Given the description of an element on the screen output the (x, y) to click on. 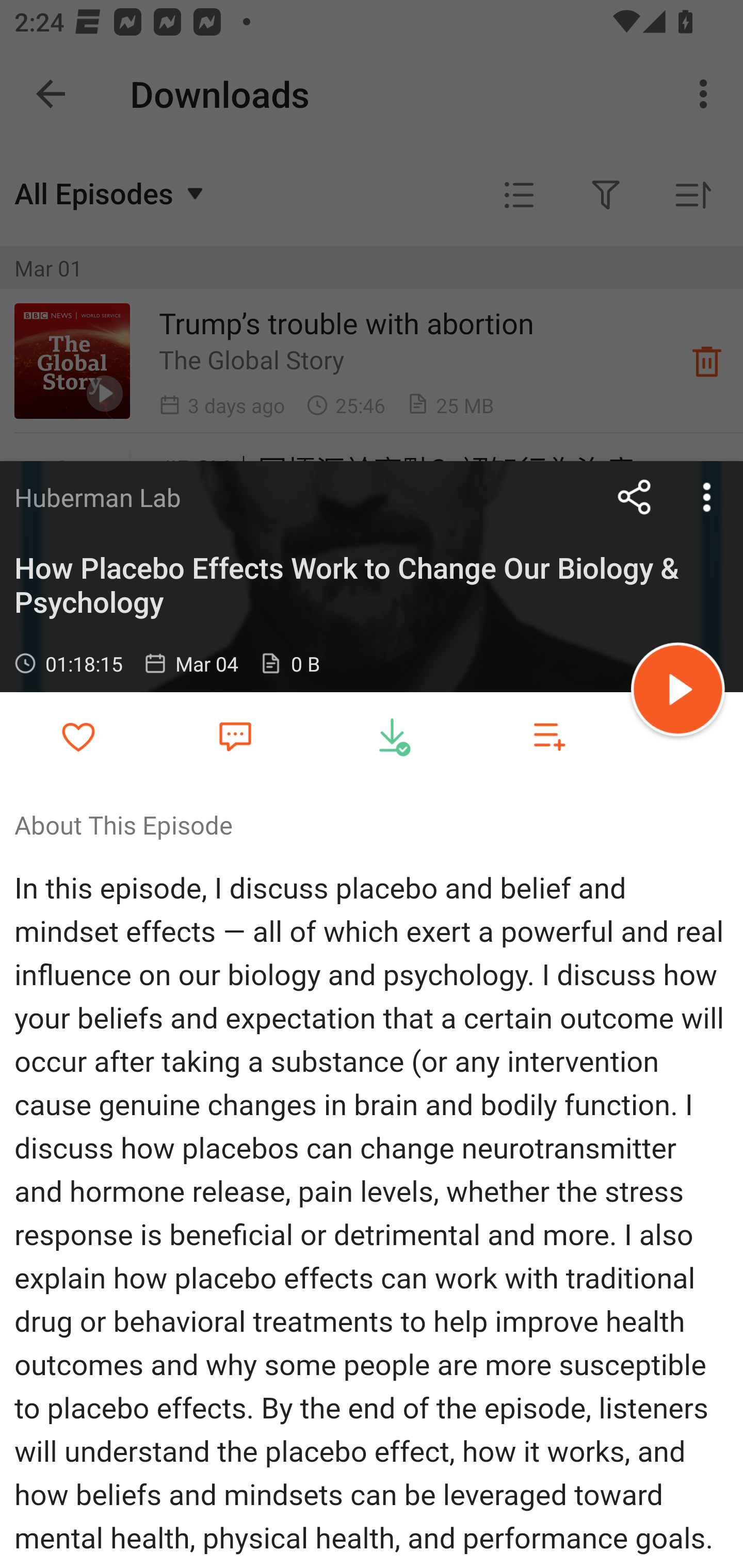
Share (634, 496)
more options (706, 496)
Play (677, 692)
Favorite (234, 735)
Add to Favorites (78, 735)
Downloaded (391, 735)
Add to playlist (548, 735)
